Given the description of an element on the screen output the (x, y) to click on. 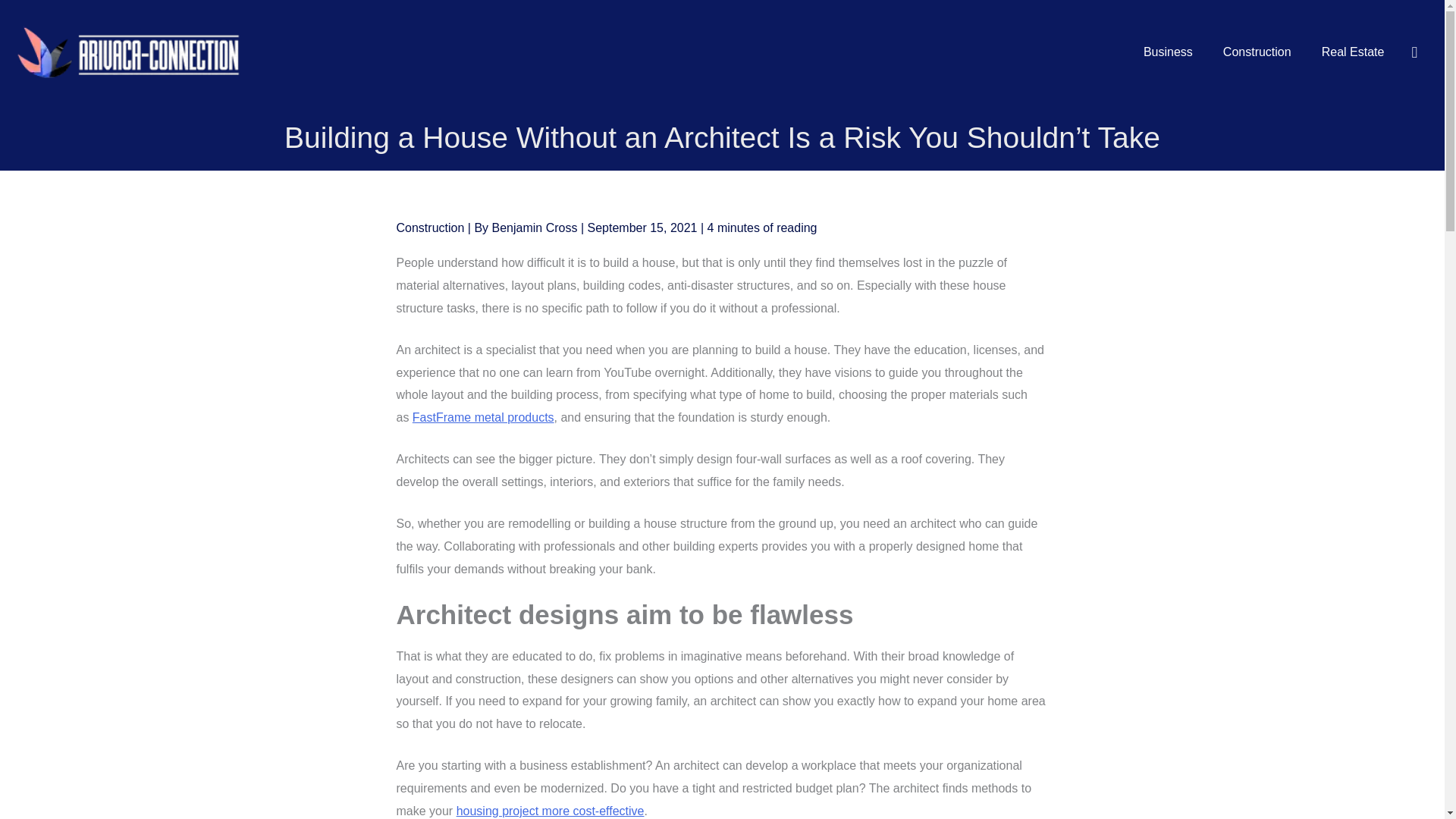
Benjamin Cross (535, 227)
FastFrame metal products (483, 417)
Business (1168, 51)
Real Estate (1352, 51)
housing project more cost-effective (551, 810)
Construction (1257, 51)
Construction (430, 227)
View all posts by Benjamin Cross (535, 227)
